Given the description of an element on the screen output the (x, y) to click on. 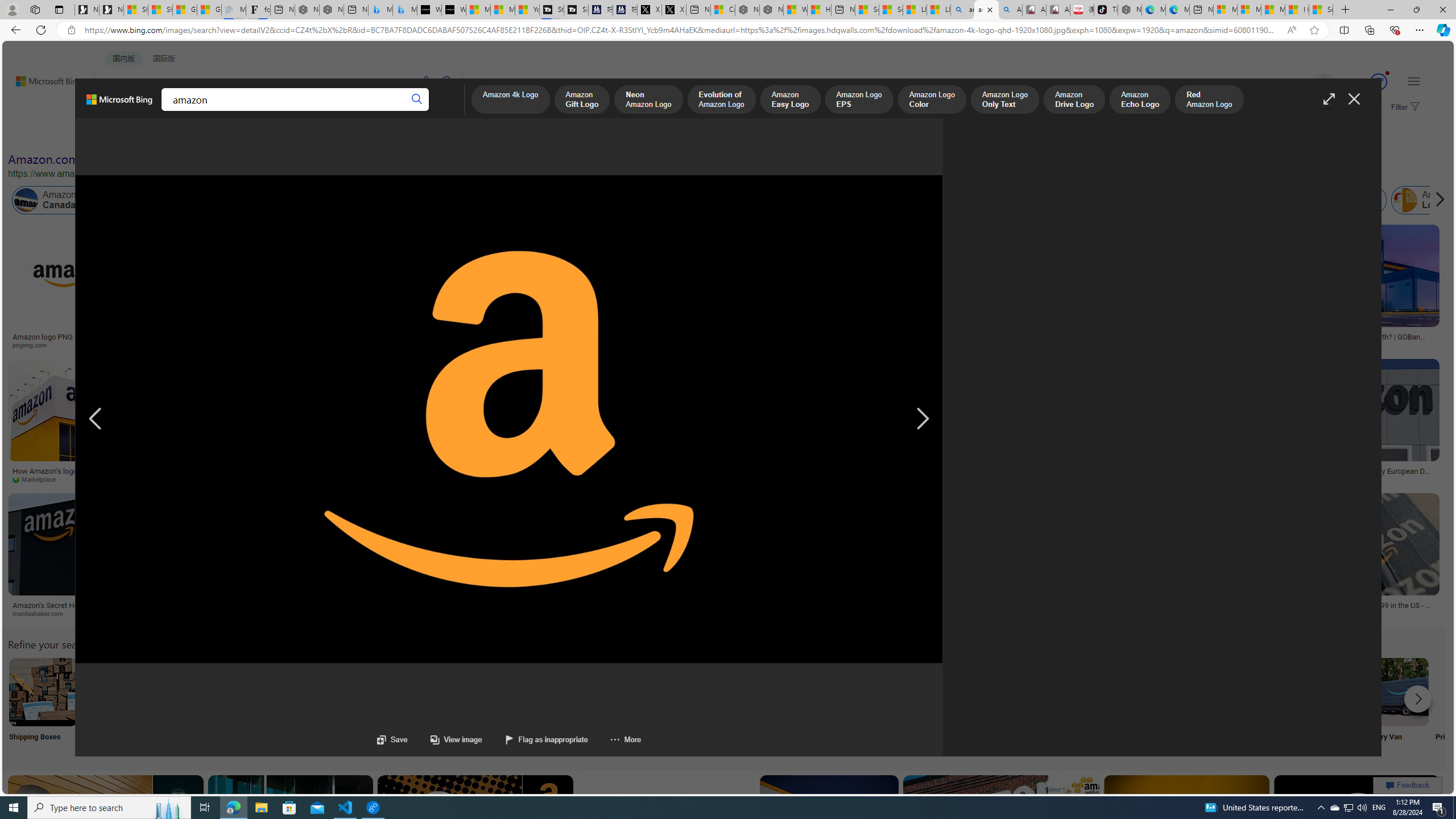
Marketplace (38, 479)
App Store Download (1319, 706)
Amazon Shipping Boxes (42, 691)
Amazon Package Delivery Package Delivery (418, 706)
Amazon India (483, 200)
MAPS (397, 111)
Delivery Van (1393, 706)
Class: b_pri_nav_svg (191, 112)
Amazon (399, 605)
Amazon India (508, 199)
